Given the description of an element on the screen output the (x, y) to click on. 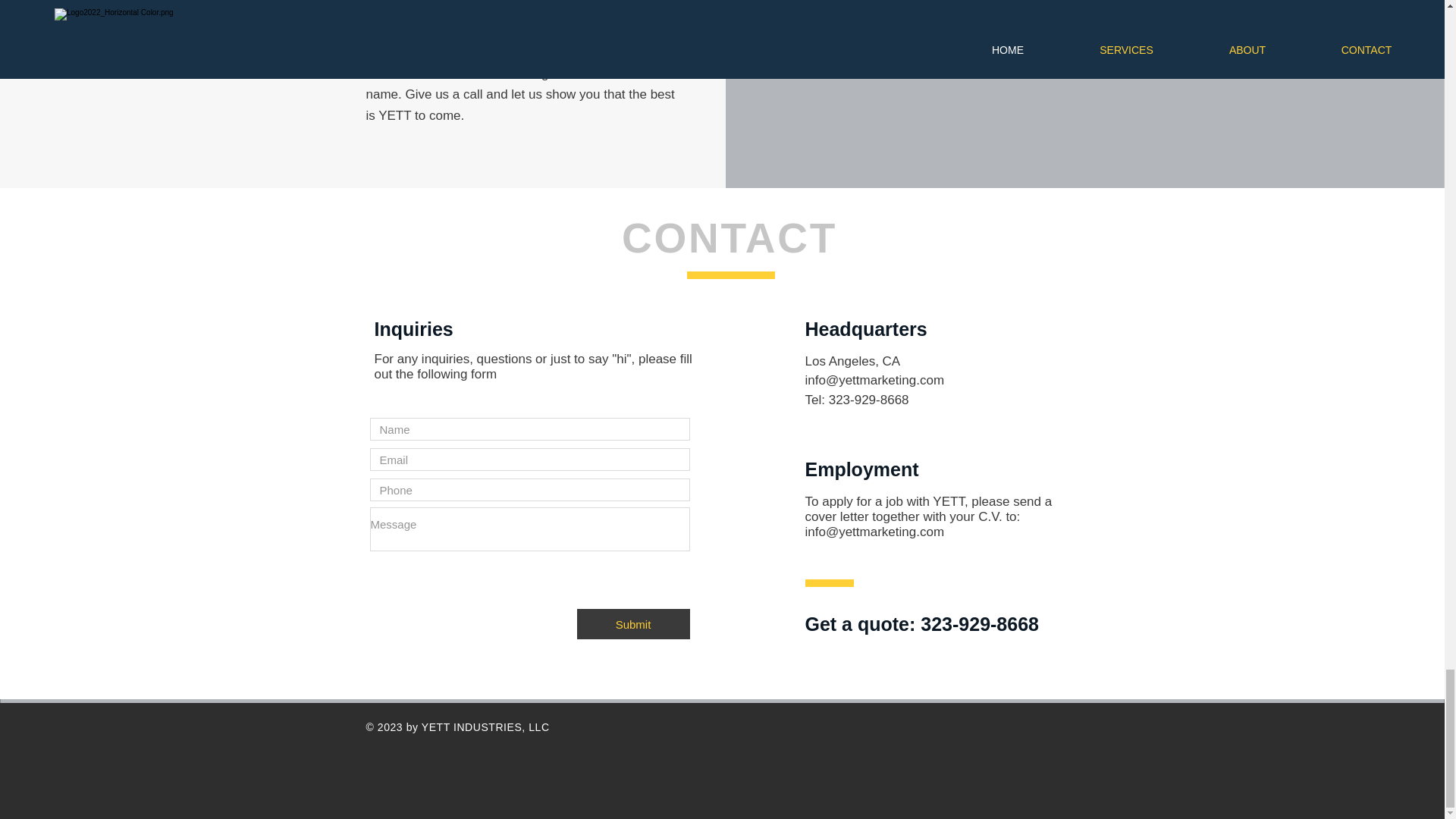
Submit (632, 624)
